Given the description of an element on the screen output the (x, y) to click on. 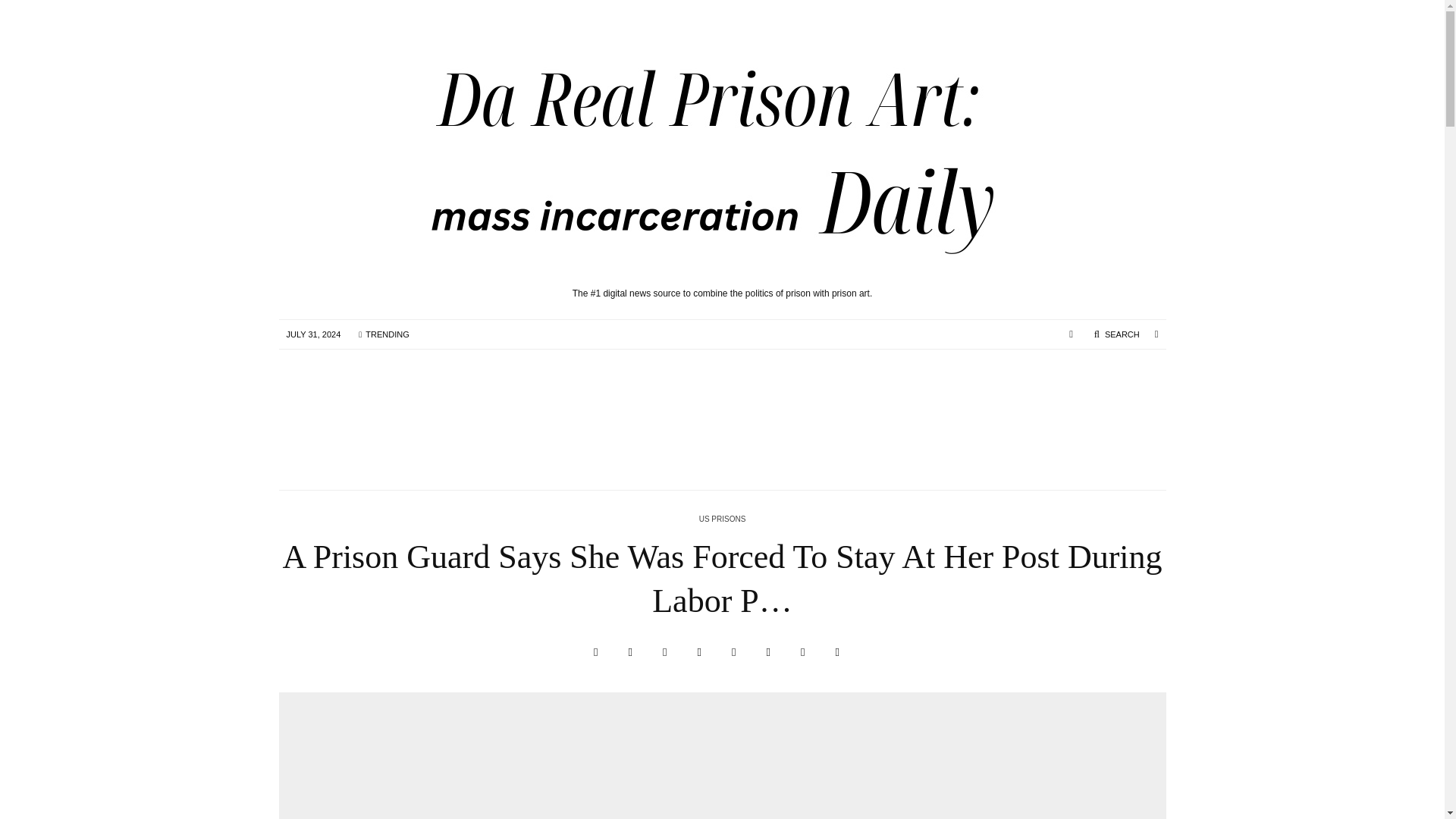
US PRISONS (721, 519)
SEARCH (1116, 333)
TRENDING (383, 334)
